Given the description of an element on the screen output the (x, y) to click on. 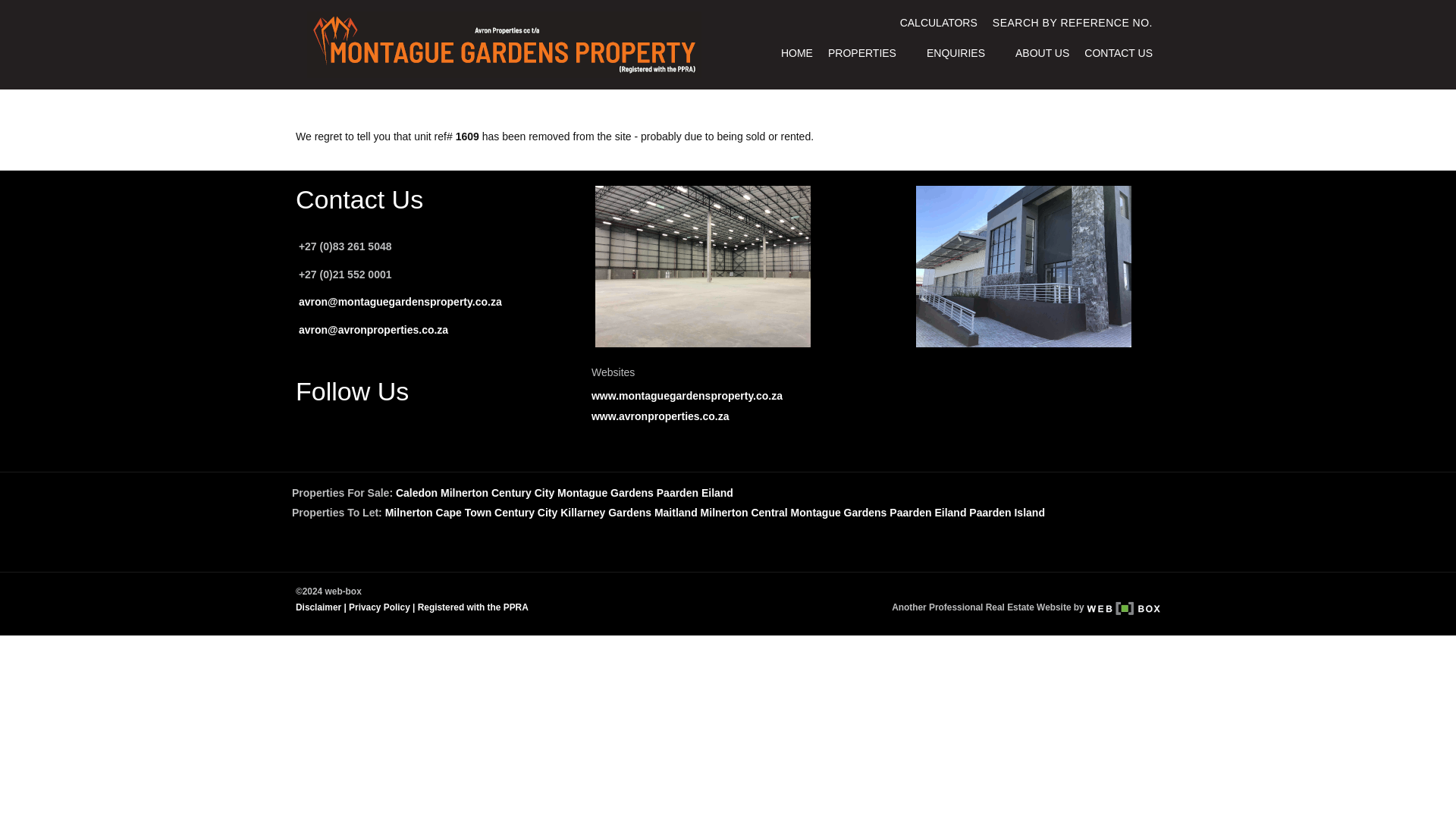
Cape Town (463, 512)
Properties for rent in Century City, Milnerton (526, 512)
Century City (526, 512)
Killarney Gardens (605, 512)
Caledon (417, 492)
Milnerton (464, 492)
Properties for rent in Milnerton (408, 512)
CALCULATORS (938, 22)
Montague Gardens (838, 512)
Maitland (675, 512)
www.avronproperties.co.za (660, 416)
Paarden Eiland (694, 492)
Montague Gardens (605, 492)
Properties for rent in Paarden Eiland, Milnerton (927, 512)
ABOUT US (1042, 53)
